Given the description of an element on the screen output the (x, y) to click on. 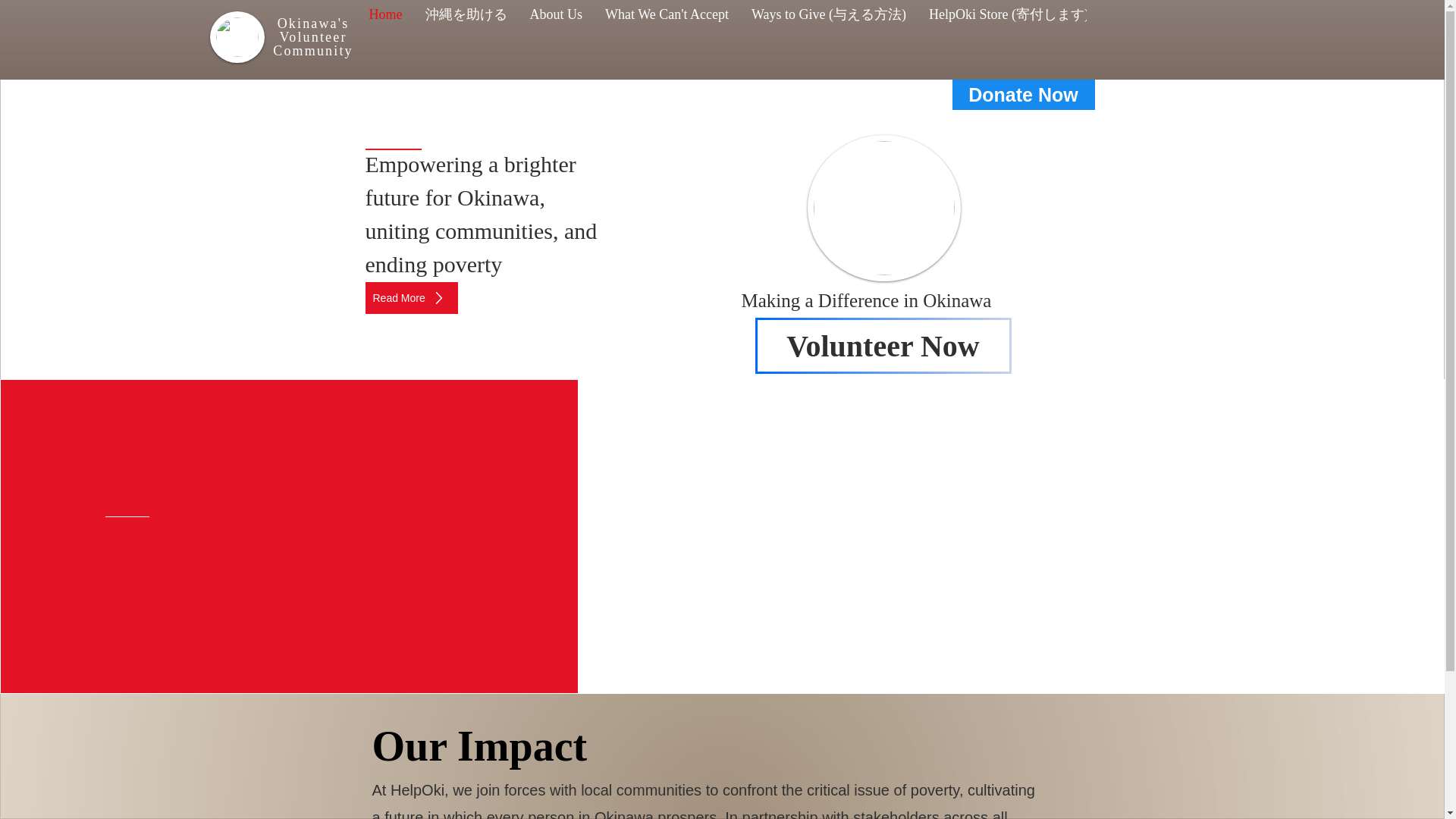
What We Can't Accept (666, 32)
Home (385, 32)
About Us (556, 32)
Read More (411, 297)
Volunteer Now (883, 345)
Donate Now (1023, 94)
